Given the description of an element on the screen output the (x, y) to click on. 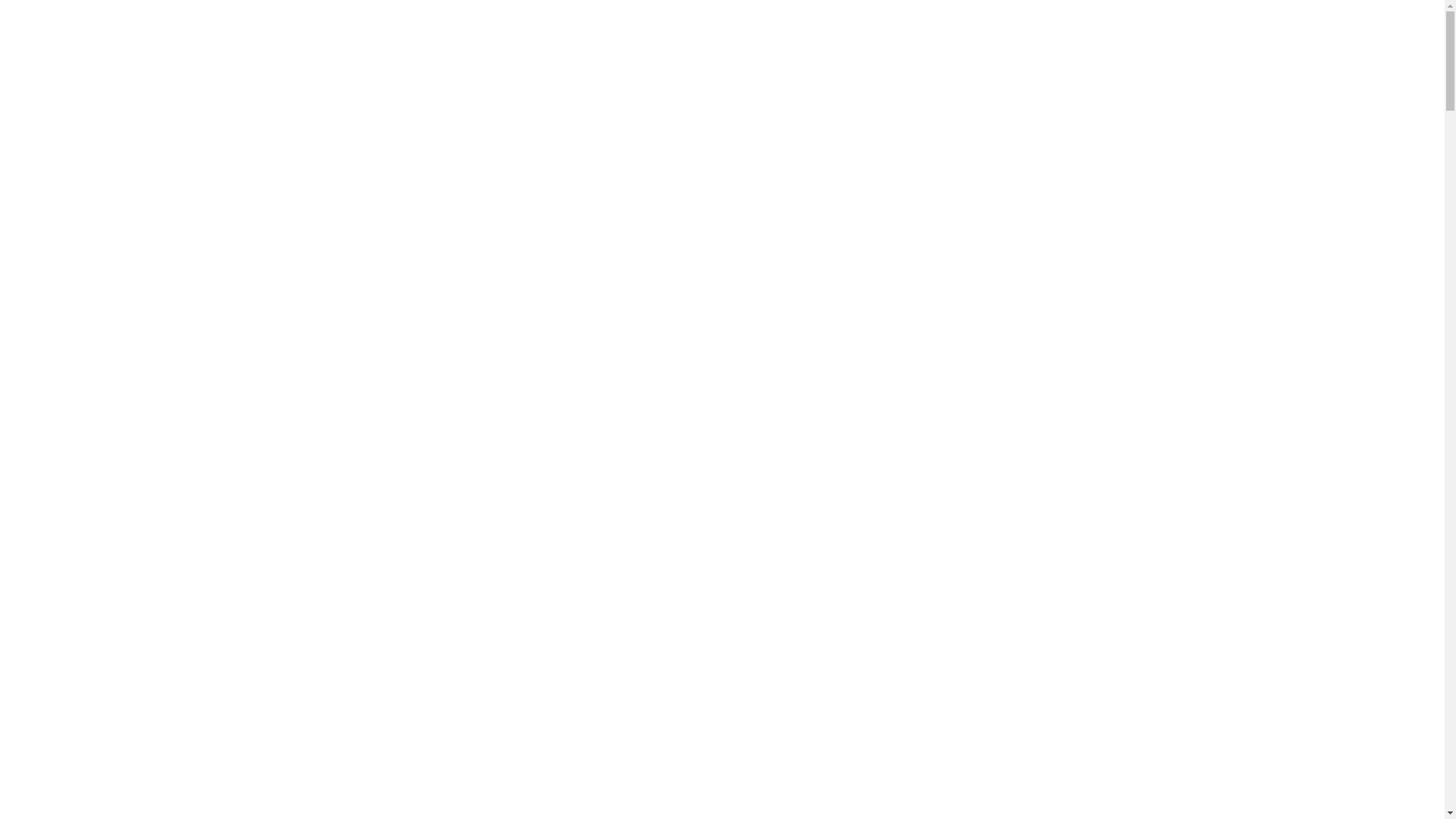
Buchen Element type: text (850, 739)
2 Element type: text (687, 134)
Jetzt anrufen! Element type: hover (1190, 67)
Details einblenden Element type: text (939, 479)
7 Element type: text (774, 134)
5 Element type: text (739, 134)
Hotel Berghof | Hotel Zillertal Element type: hover (195, 53)
1 Element type: text (669, 134)
Zum Instagram Profil Element type: hover (1300, 67)
Anfrage Element type: text (592, 739)
DE Element type: text (38, 133)
Details einblenden Element type: text (939, 393)
Impressum Element type: text (669, 574)
6 Element type: text (757, 134)
4 Element type: text (722, 134)
Sommerfreude Element type: text (1361, 716)
Prev Element type: text (619, 134)
UNSERE ZIMMER Element type: text (105, 349)
3 Element type: text (704, 134)
EN Element type: text (1405, 133)
Hotel Berghof | Hotel Mayrhofen Element type: hover (722, 43)
Next Element type: text (824, 134)
Zur Facebook Seite Element type: hover (1263, 67)
Auswahl speichern Element type: text (666, 522)
Jetzt anfragen! Element type: hover (1227, 67)
Winterzauber Element type: text (78, 716)
Details einblenden Element type: text (939, 436)
Alle akzeptieren Element type: text (786, 522)
